Given the description of an element on the screen output the (x, y) to click on. 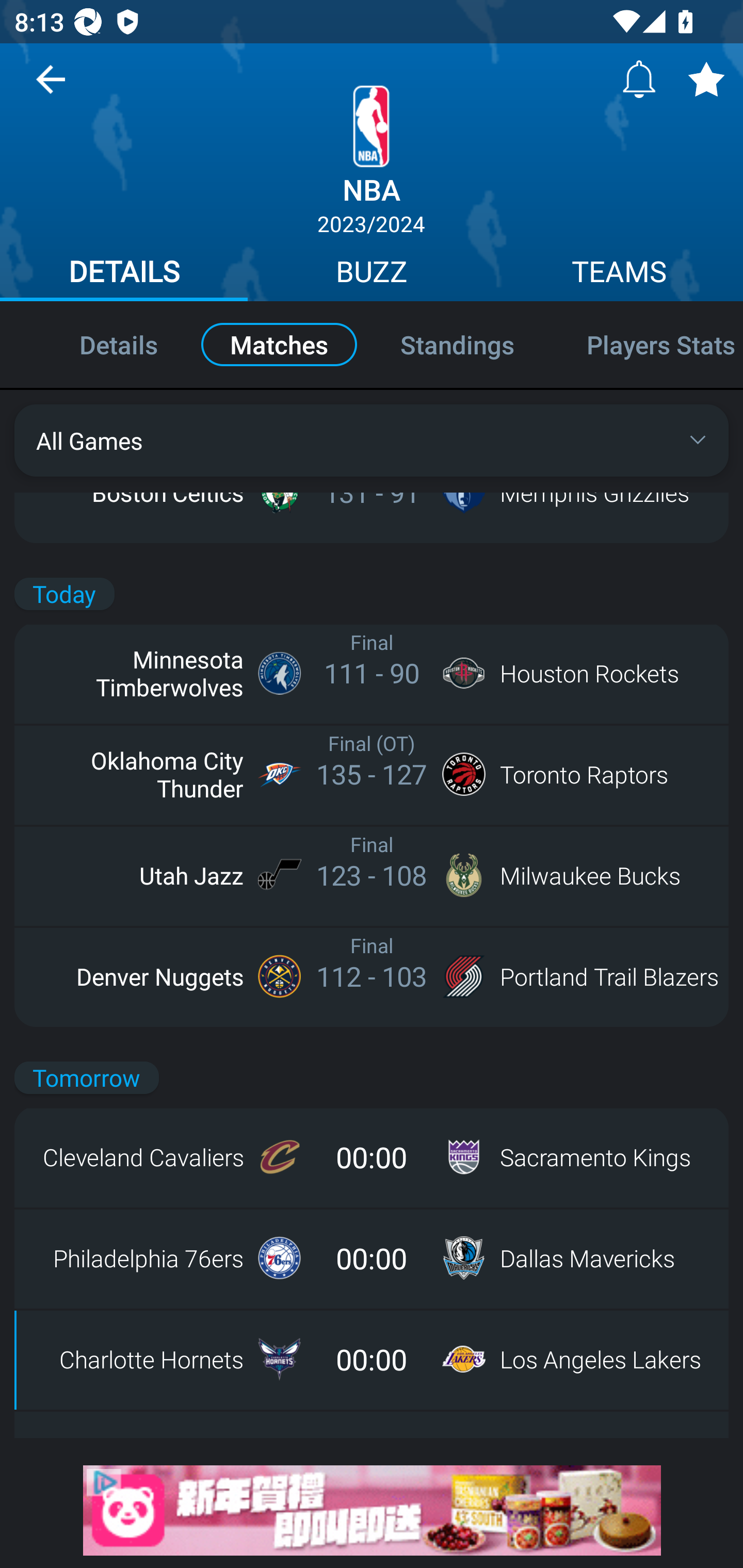
Navigate up (50, 86)
DETAILS (123, 274)
BUZZ (371, 274)
TEAMS (619, 274)
Details (96, 344)
Standings (457, 344)
Players Stats (646, 344)
All Games (371, 440)
Utah Jazz Final 123 - 108 Milwaukee Bucks (371, 874)
Cleveland Cavaliers 00:00 Sacramento Kings (371, 1157)
Philadelphia 76ers 00:00 Dallas Mavericks (371, 1258)
Charlotte Hornets 00:00 Los Angeles Lakers (371, 1359)
mg0gkqli_320x50 (371, 1509)
